Given the description of an element on the screen output the (x, y) to click on. 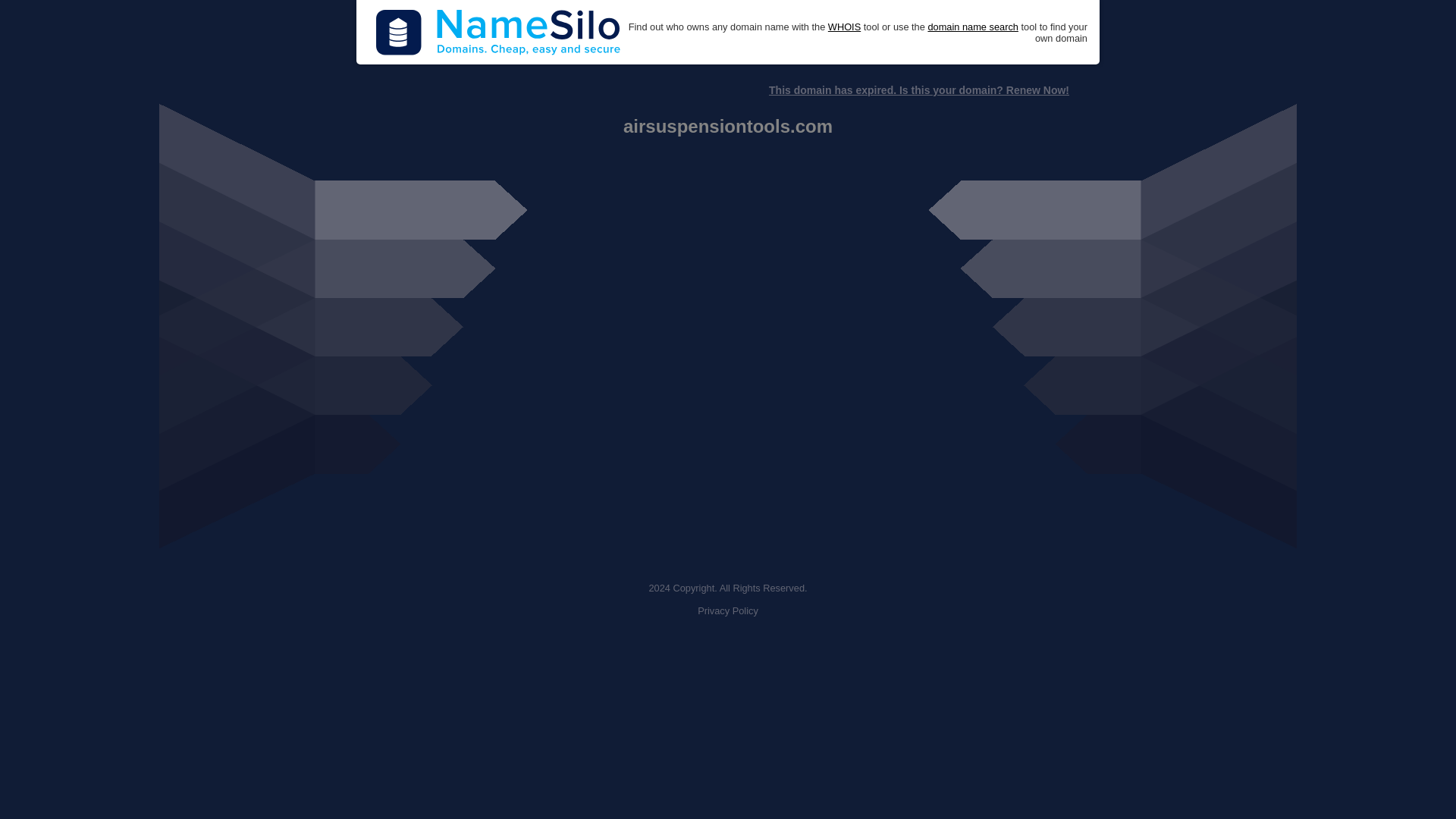
This domain has expired. Is this your domain? Renew Now! (918, 90)
WHOIS (844, 26)
domain name search (972, 26)
Privacy Policy (727, 610)
